Given the description of an element on the screen output the (x, y) to click on. 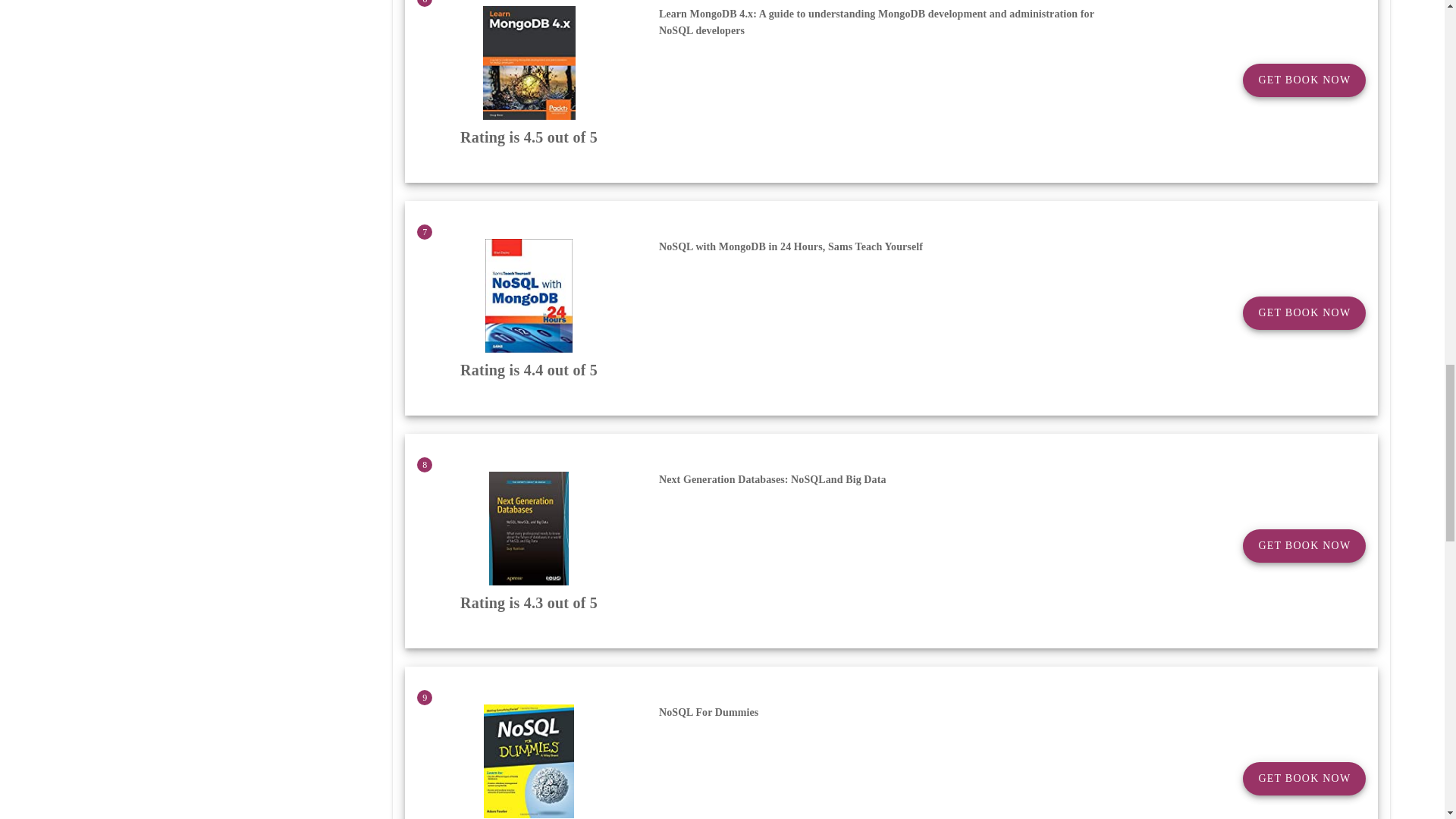
GET BOOK NOW (1304, 80)
GET BOOK NOW (1304, 313)
GET BOOK NOW (1304, 778)
GET BOOK NOW (1304, 545)
